Given the description of an element on the screen output the (x, y) to click on. 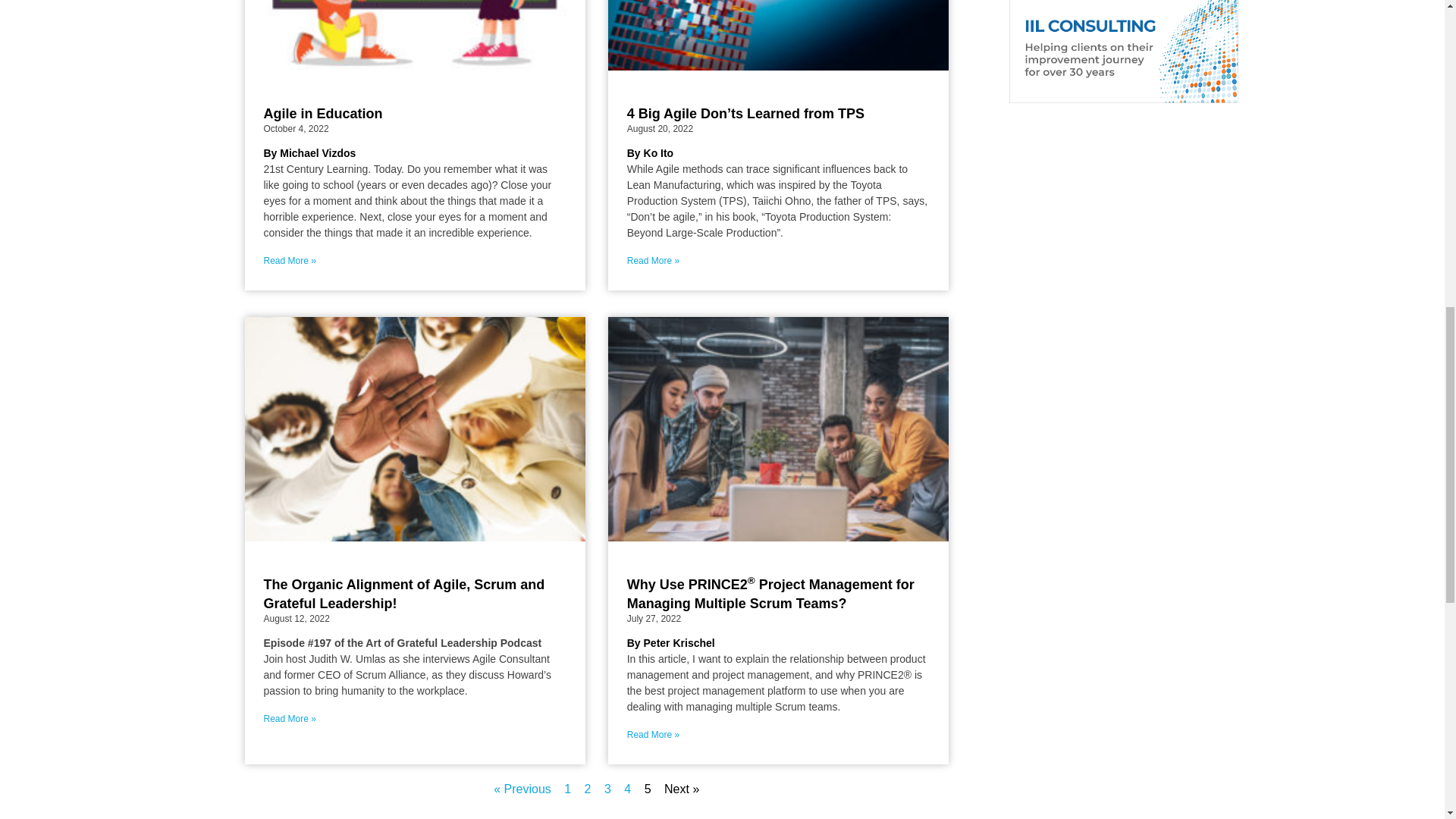
Agile in Education (322, 113)
By Michael Vizdos (309, 152)
